Given the description of an element on the screen output the (x, y) to click on. 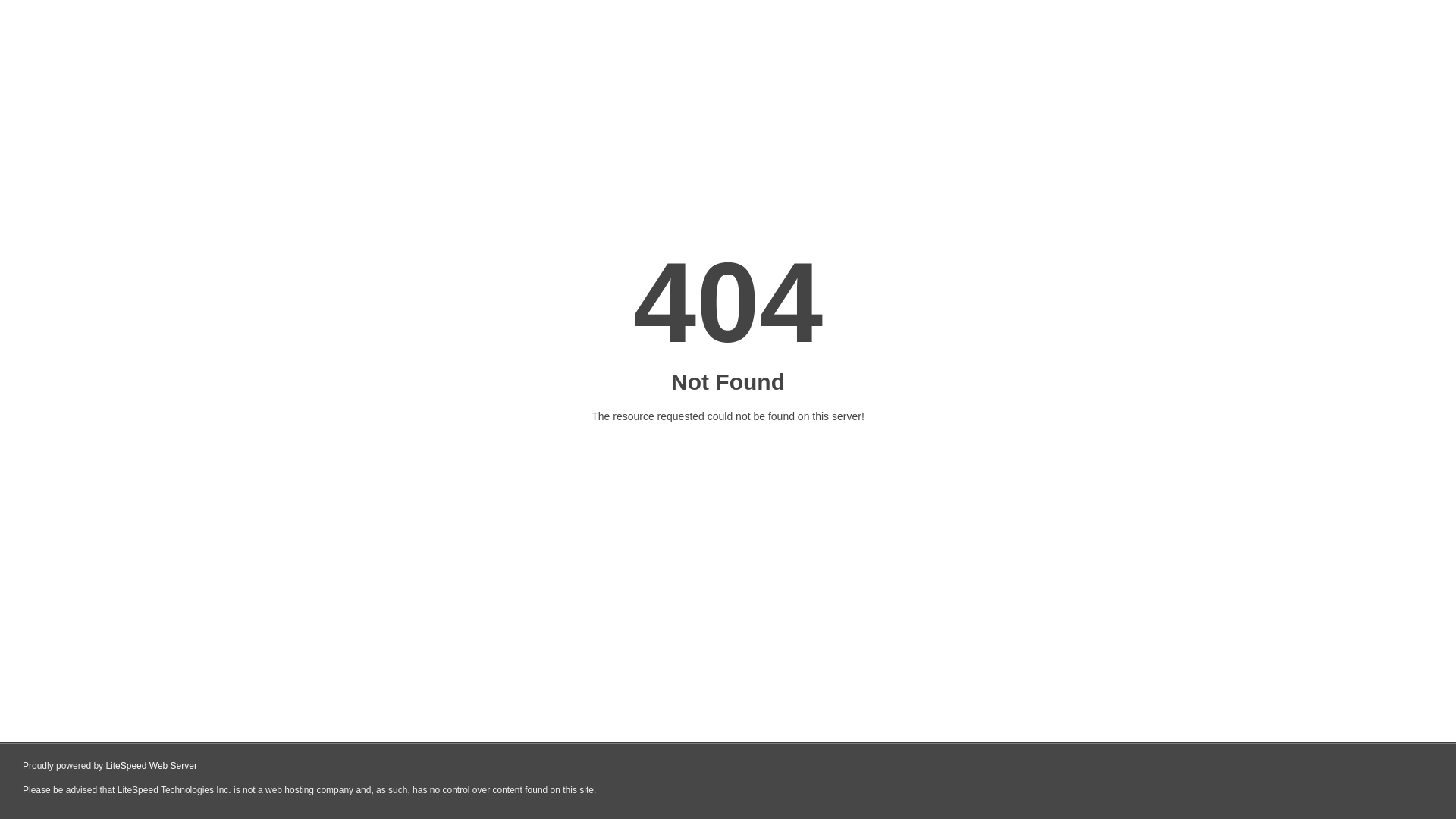
LiteSpeed Web Server Element type: text (151, 765)
